Given the description of an element on the screen output the (x, y) to click on. 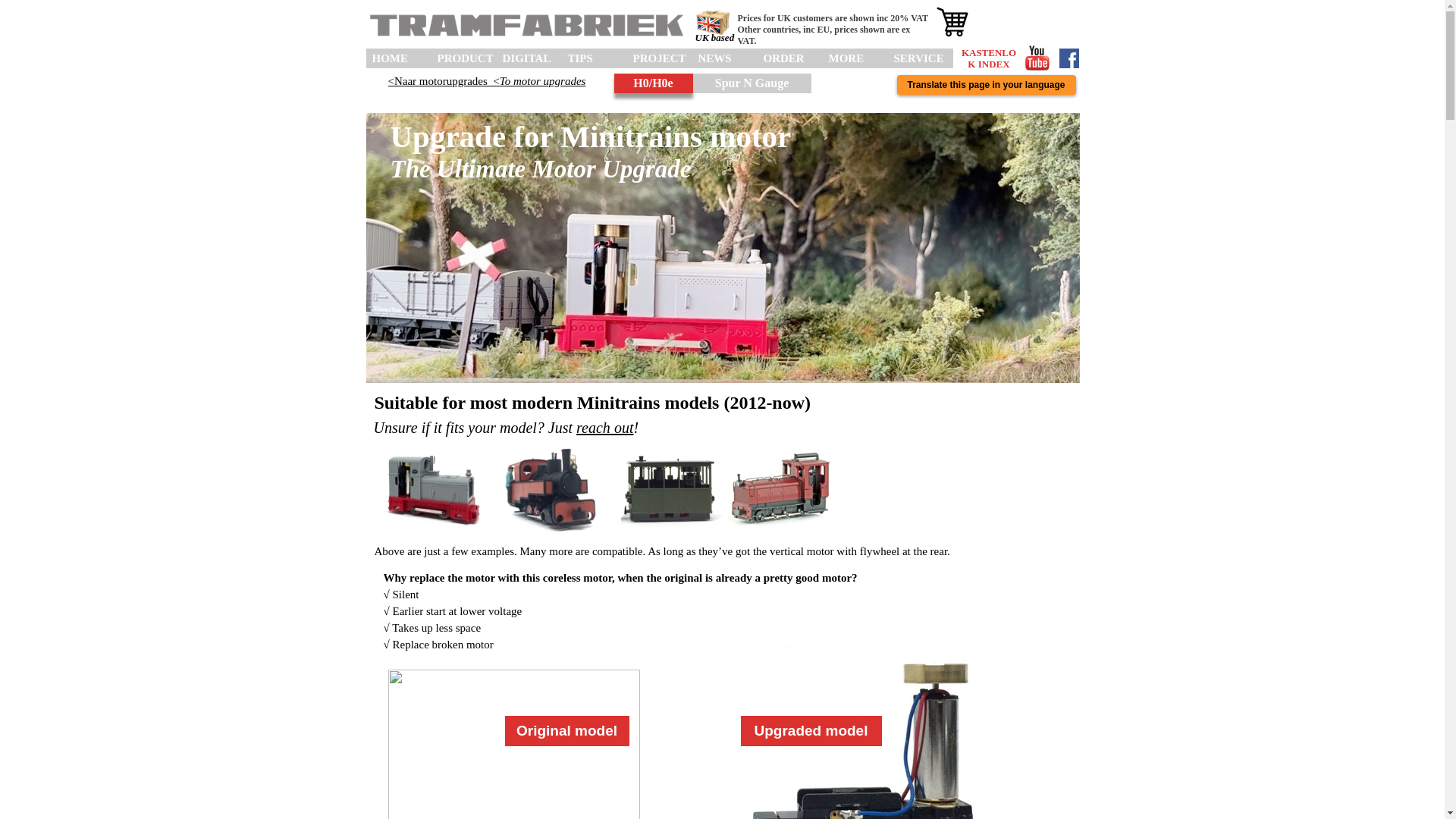
reach (593, 427)
Spur N Gauge (751, 85)
Translate this page in your language (985, 89)
To motor upgrades (542, 80)
